Given the description of an element on the screen output the (x, y) to click on. 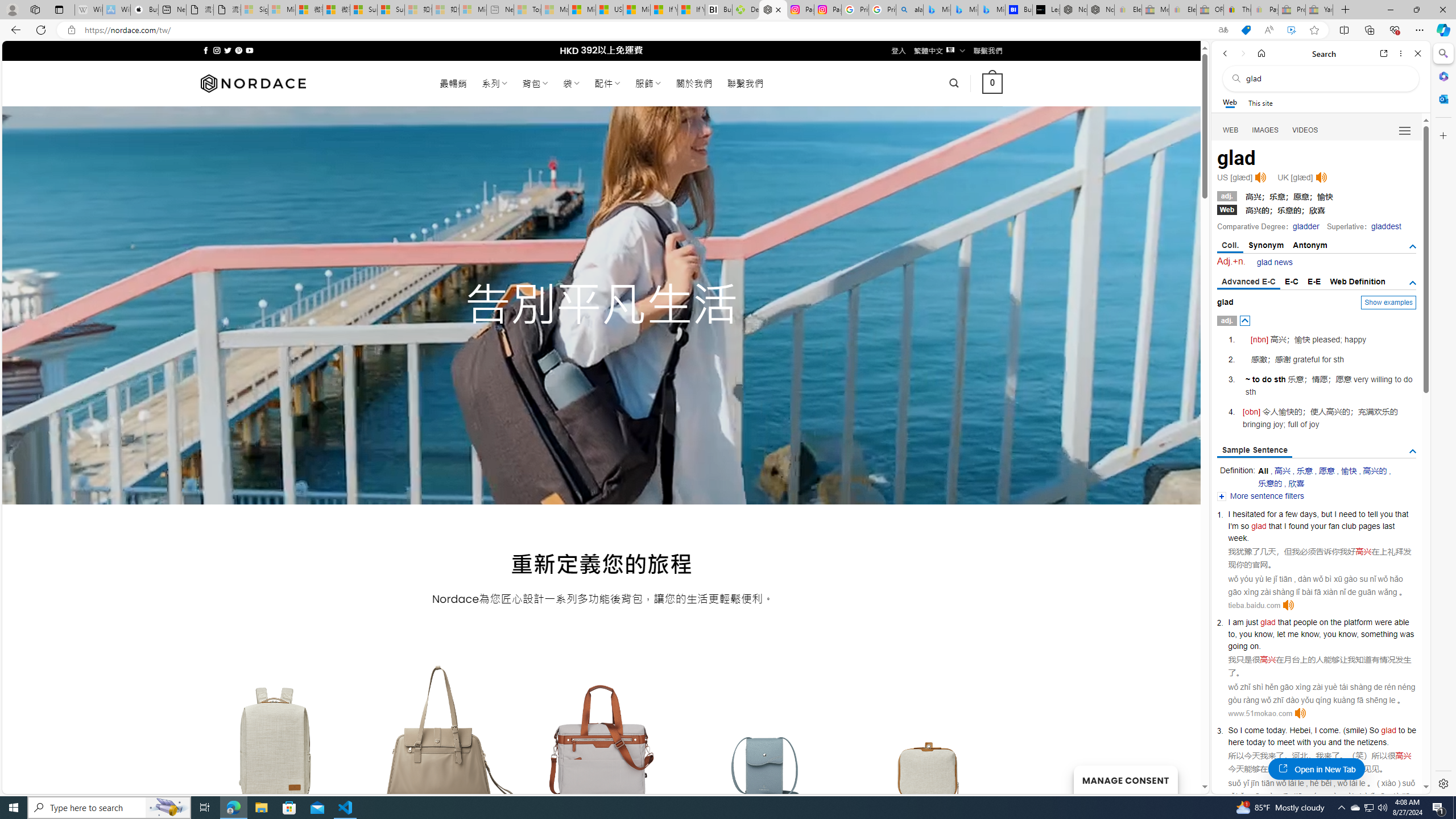
www.51mokao.com (1259, 713)
Outlook (1442, 98)
glad (1388, 729)
MANAGE CONSENT (1125, 779)
Follow on Pinterest (237, 50)
